Given the description of an element on the screen output the (x, y) to click on. 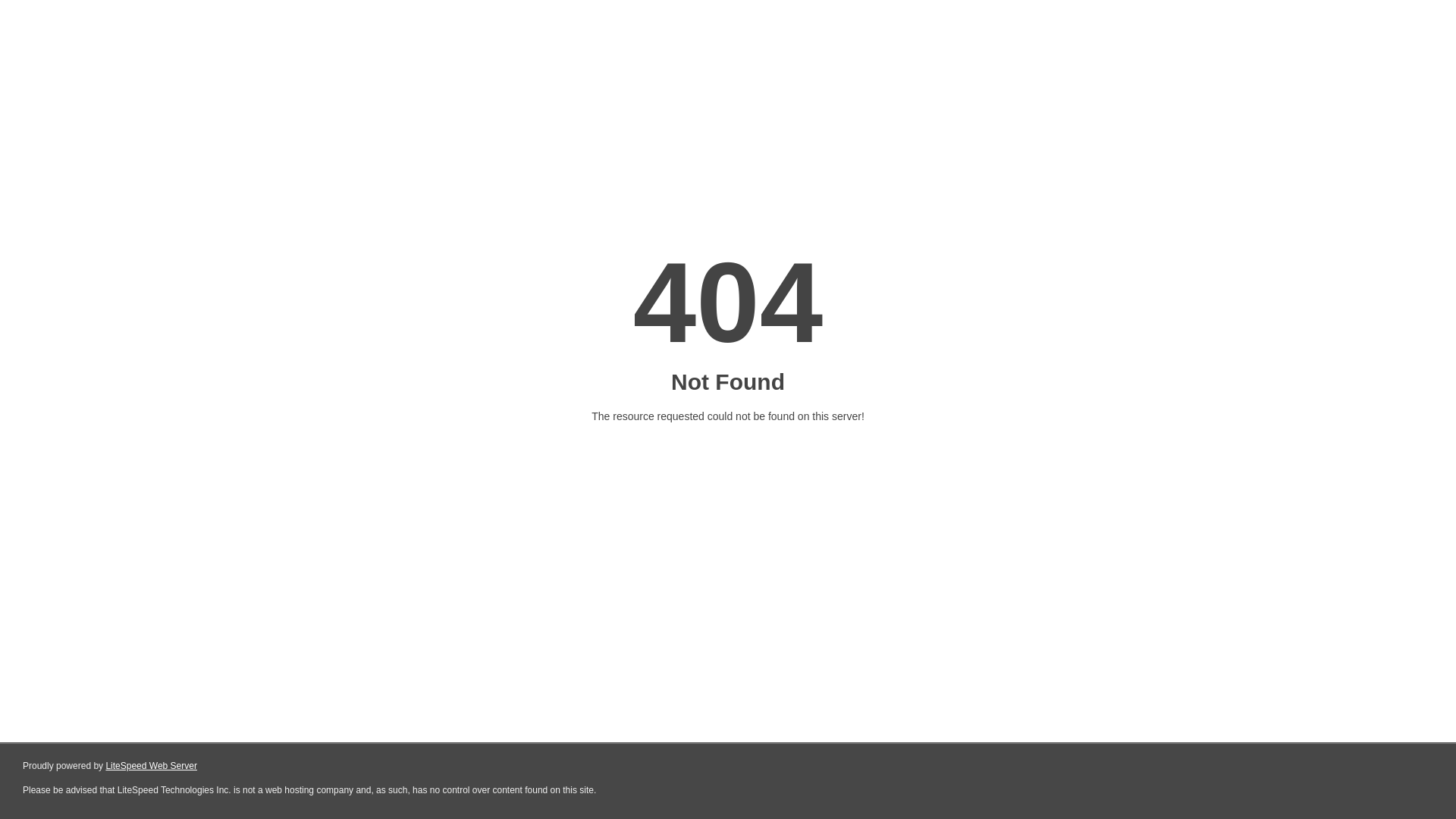
LiteSpeed Web Server Element type: text (151, 765)
